Given the description of an element on the screen output the (x, y) to click on. 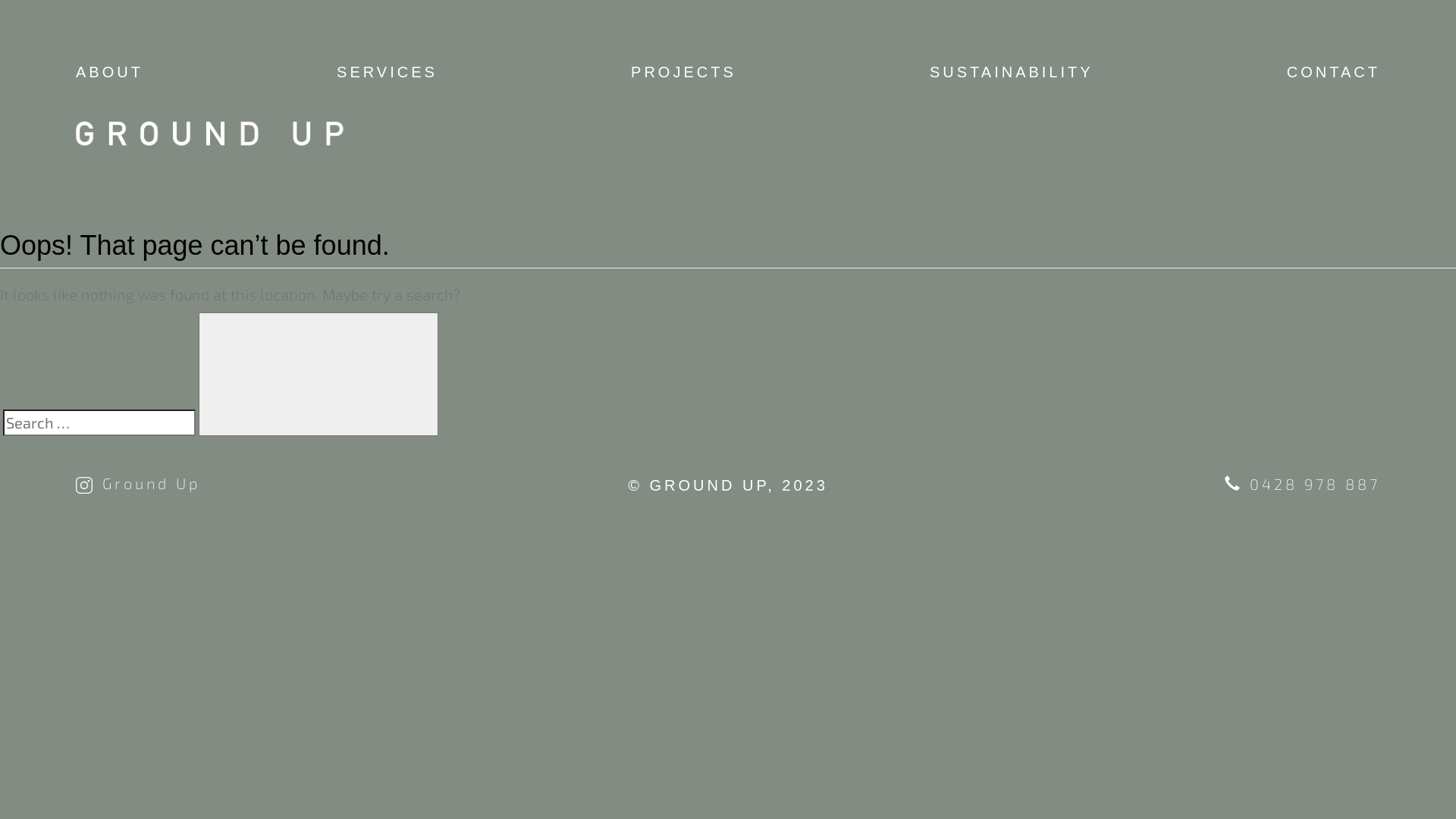
SUSTAINABILITY Element type: text (1011, 71)
ABOUT Element type: text (109, 71)
Ground Up Element type: text (137, 482)
Search Element type: text (318, 374)
CONTACT Element type: text (1333, 71)
PROJECTS Element type: text (683, 71)
SERVICES Element type: text (386, 71)
